Given the description of an element on the screen output the (x, y) to click on. 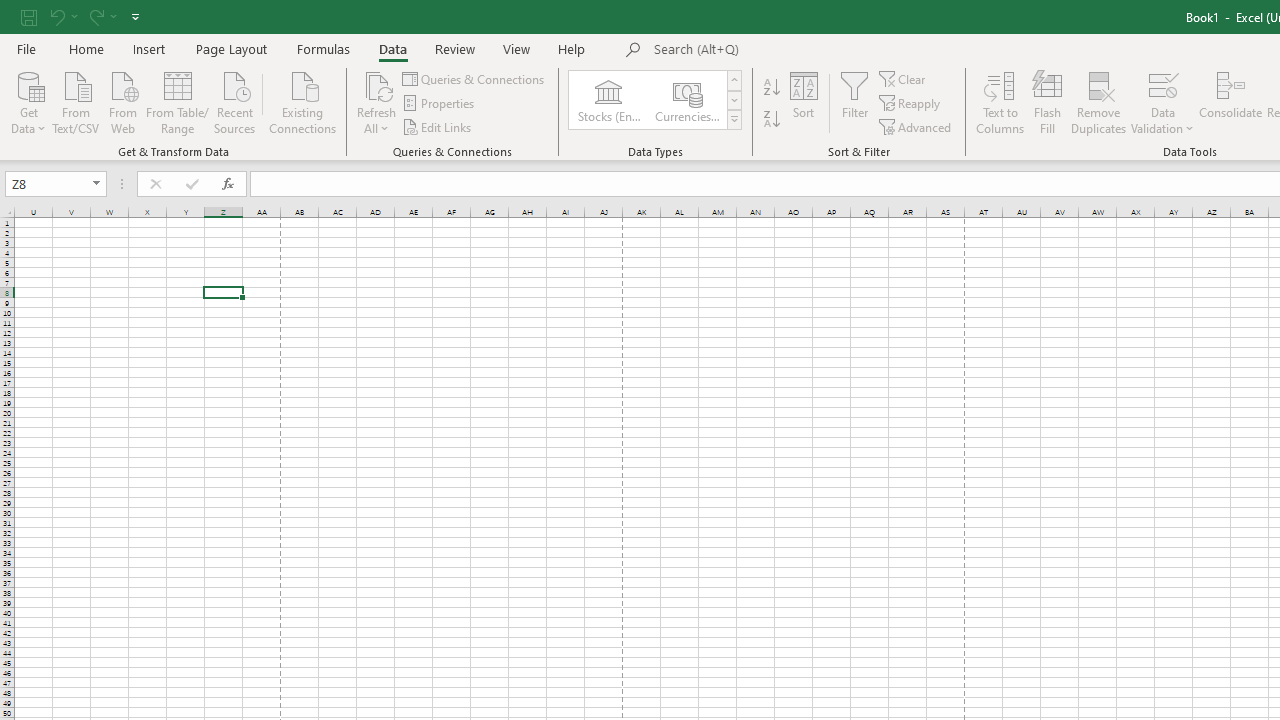
Class: NetUIImage (734, 119)
Formulas (323, 48)
Remove Duplicates (1098, 102)
More Options (1162, 121)
Customize Quick Access Toolbar (135, 15)
Flash Fill (1047, 102)
Data Types (734, 120)
Microsoft search (792, 49)
